Given the description of an element on the screen output the (x, y) to click on. 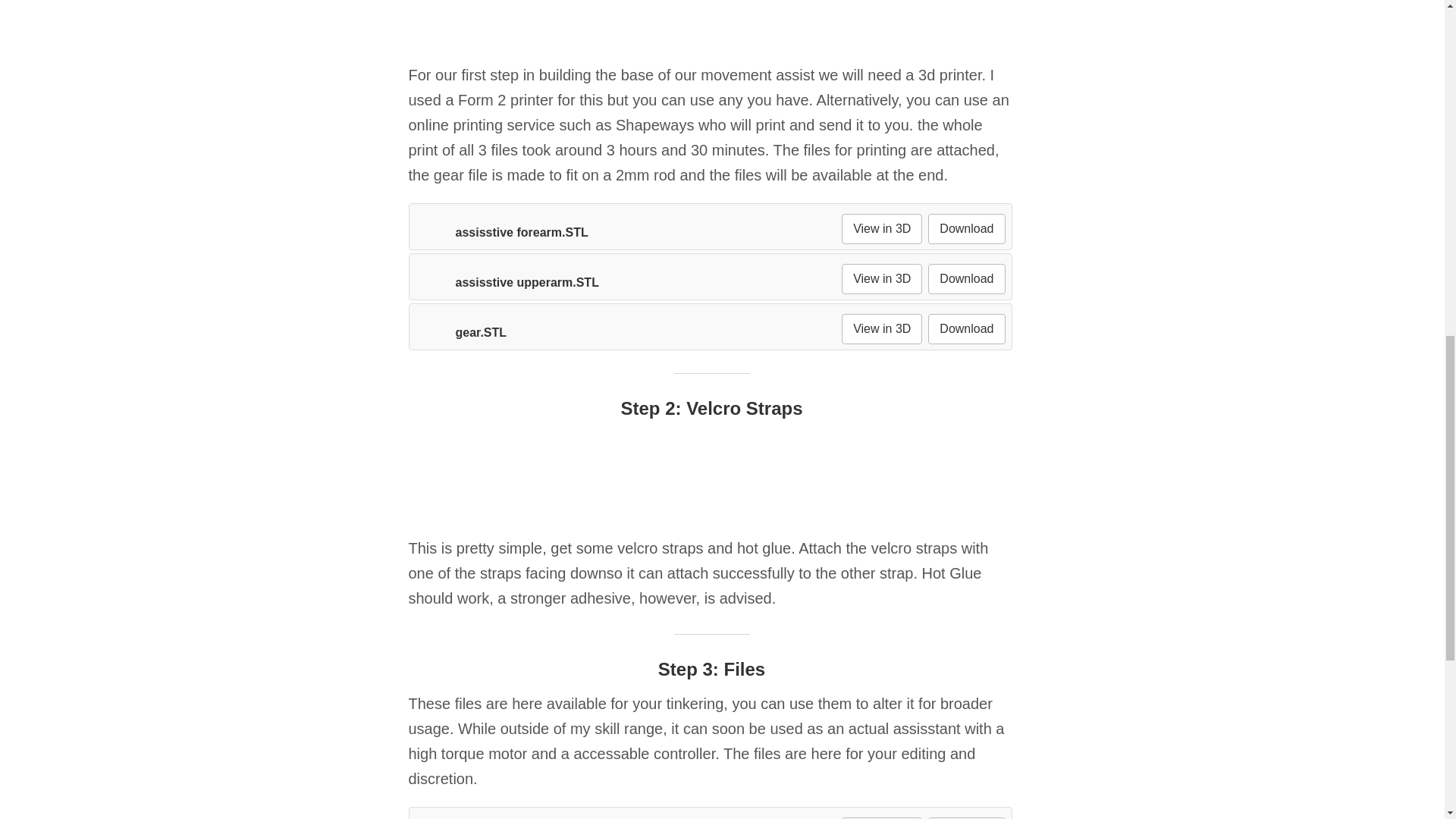
View in 3D (881, 818)
assisstive forearm.STL (500, 232)
assisstive upperarm.STL (505, 282)
Download (966, 228)
Download (966, 278)
View in 3D (881, 328)
View in 3D (881, 278)
Download (966, 328)
gear.STL (459, 331)
View in 3D (881, 228)
